Given the description of an element on the screen output the (x, y) to click on. 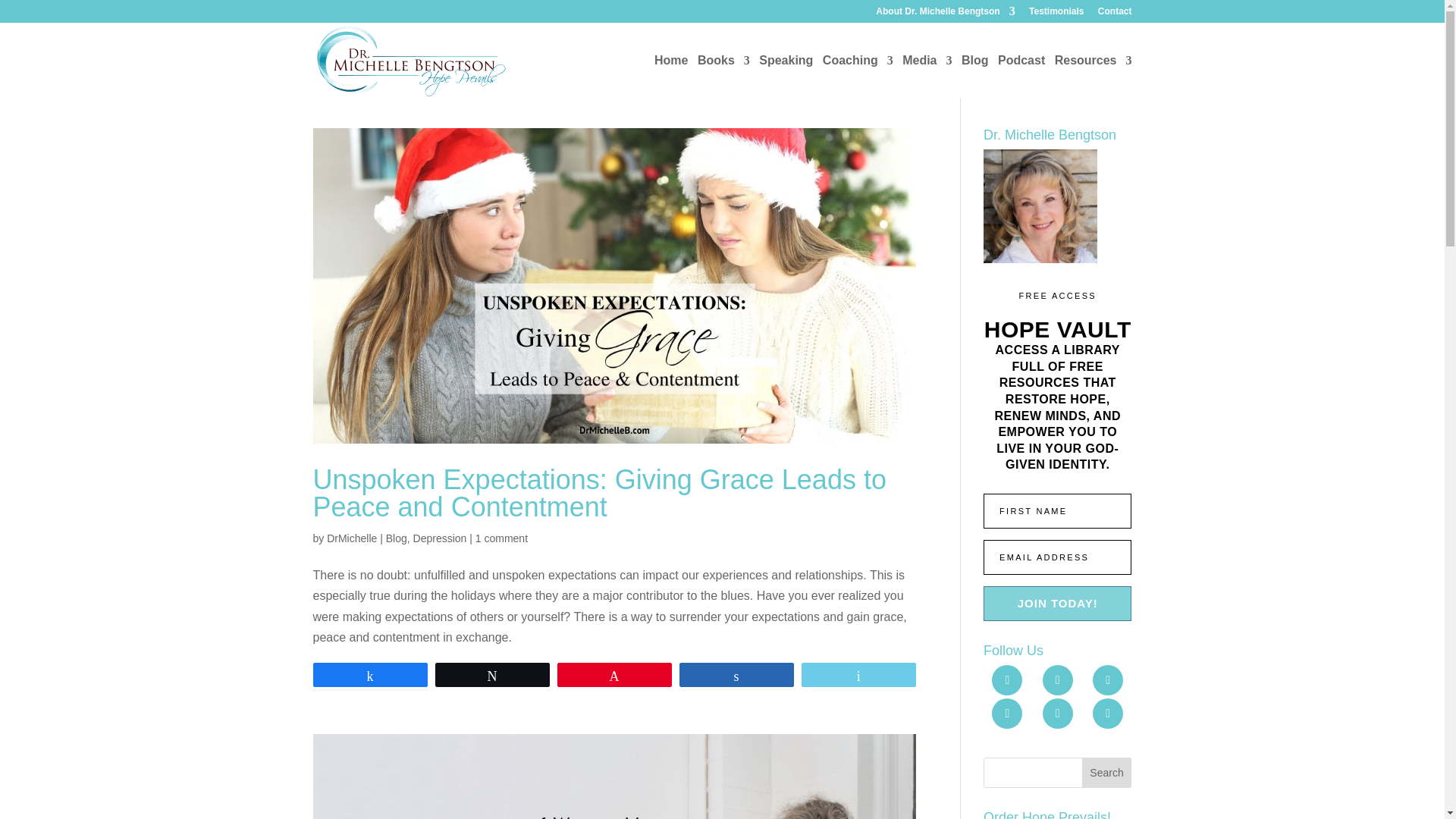
Contact (1114, 14)
Coaching (857, 76)
Podcast (1021, 76)
Posts by DrMichelle (351, 538)
Speaking (785, 76)
Media (927, 76)
Books (723, 76)
Testimonials (1056, 14)
Resources (1093, 76)
Search (1106, 772)
